Given the description of an element on the screen output the (x, y) to click on. 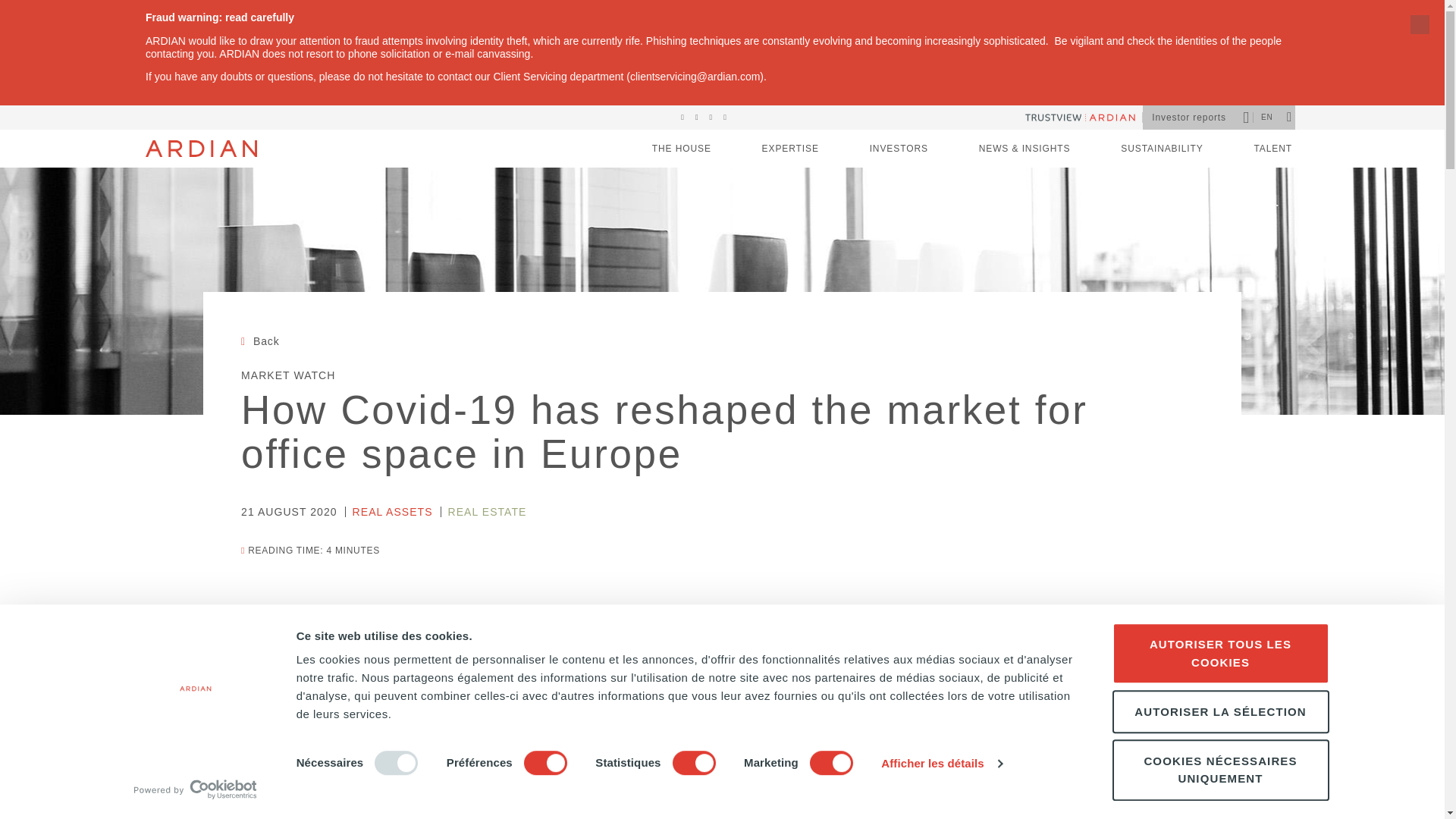
We build trusting, long-term partnerships. (898, 148)
Our vision for Sustainable Finance in private markets. (1161, 148)
A global private investment house with European roots. (681, 148)
A world-leading private markets specialist. (789, 148)
Home (201, 148)
Updates and thinking from the Ardian desks worldwide. (1024, 148)
